Given the description of an element on the screen output the (x, y) to click on. 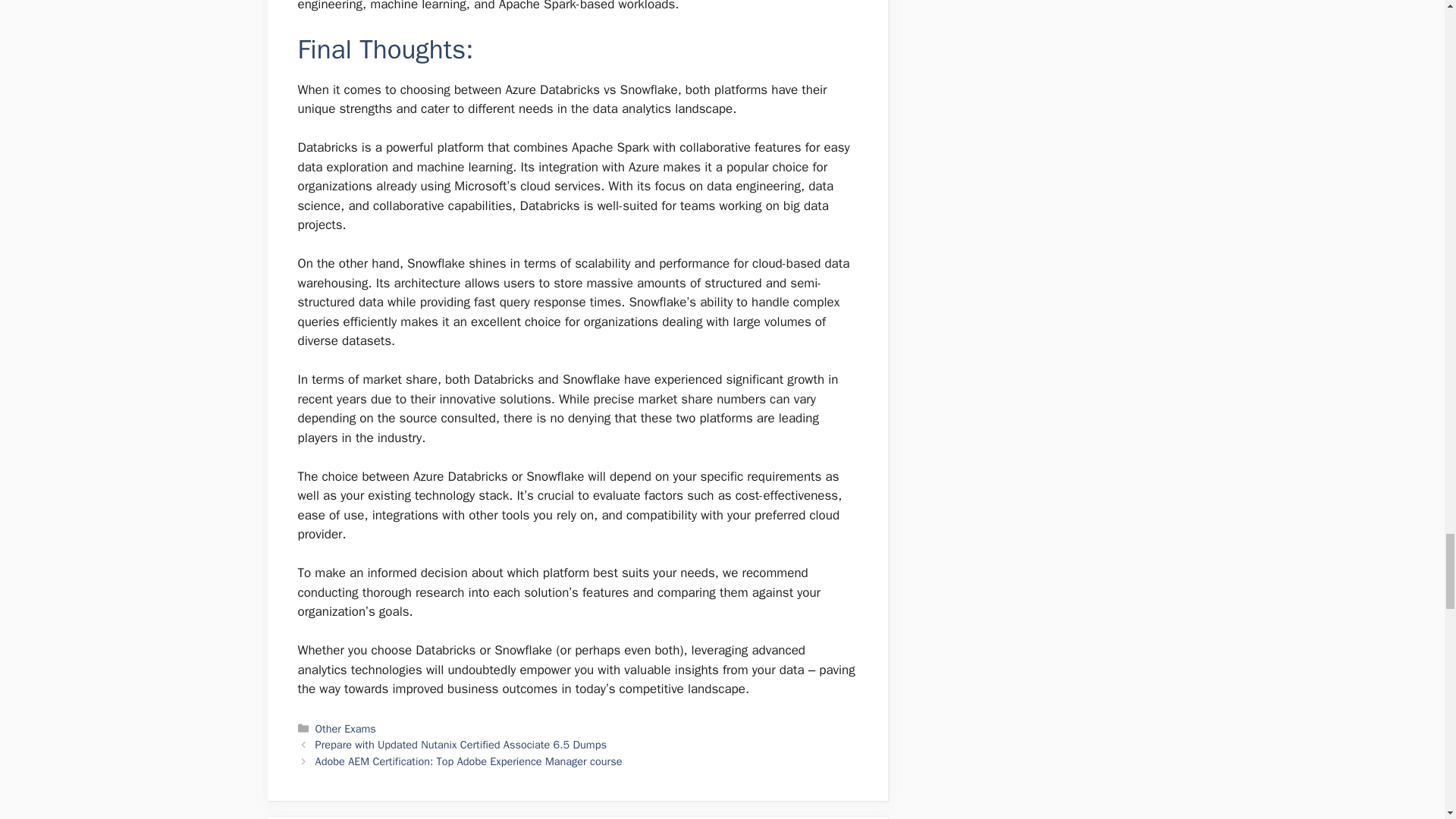
Adobe AEM Certification: Top Adobe Experience Manager course (469, 761)
Prepare with Updated Nutanix Certified Associate 6.5 Dumps (461, 744)
Other Exams (345, 728)
